Given the description of an element on the screen output the (x, y) to click on. 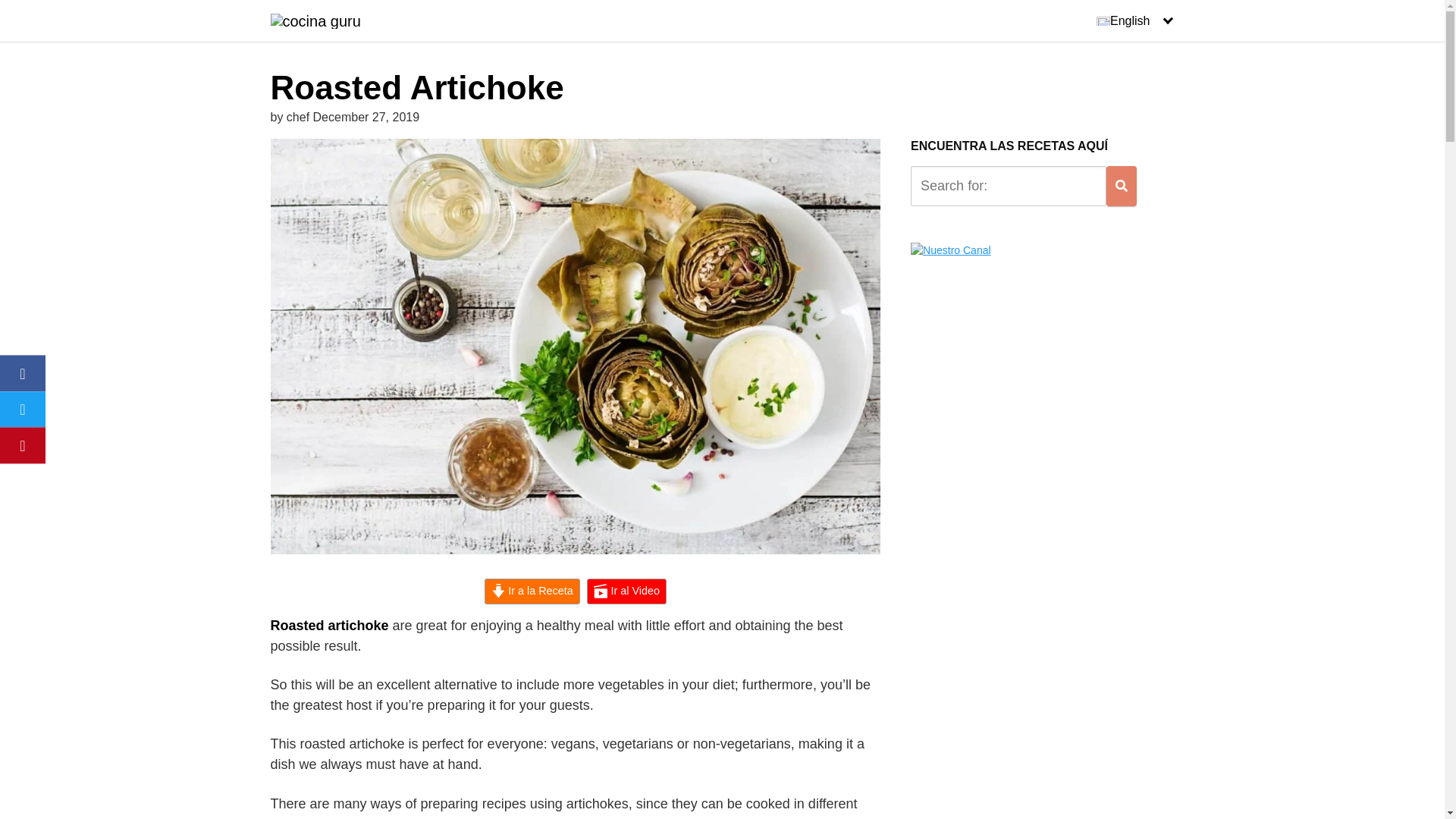
English (1134, 20)
English (1134, 20)
Search for: (1008, 186)
Ir al Video (626, 591)
Ir a la Receta (531, 591)
